Given the description of an element on the screen output the (x, y) to click on. 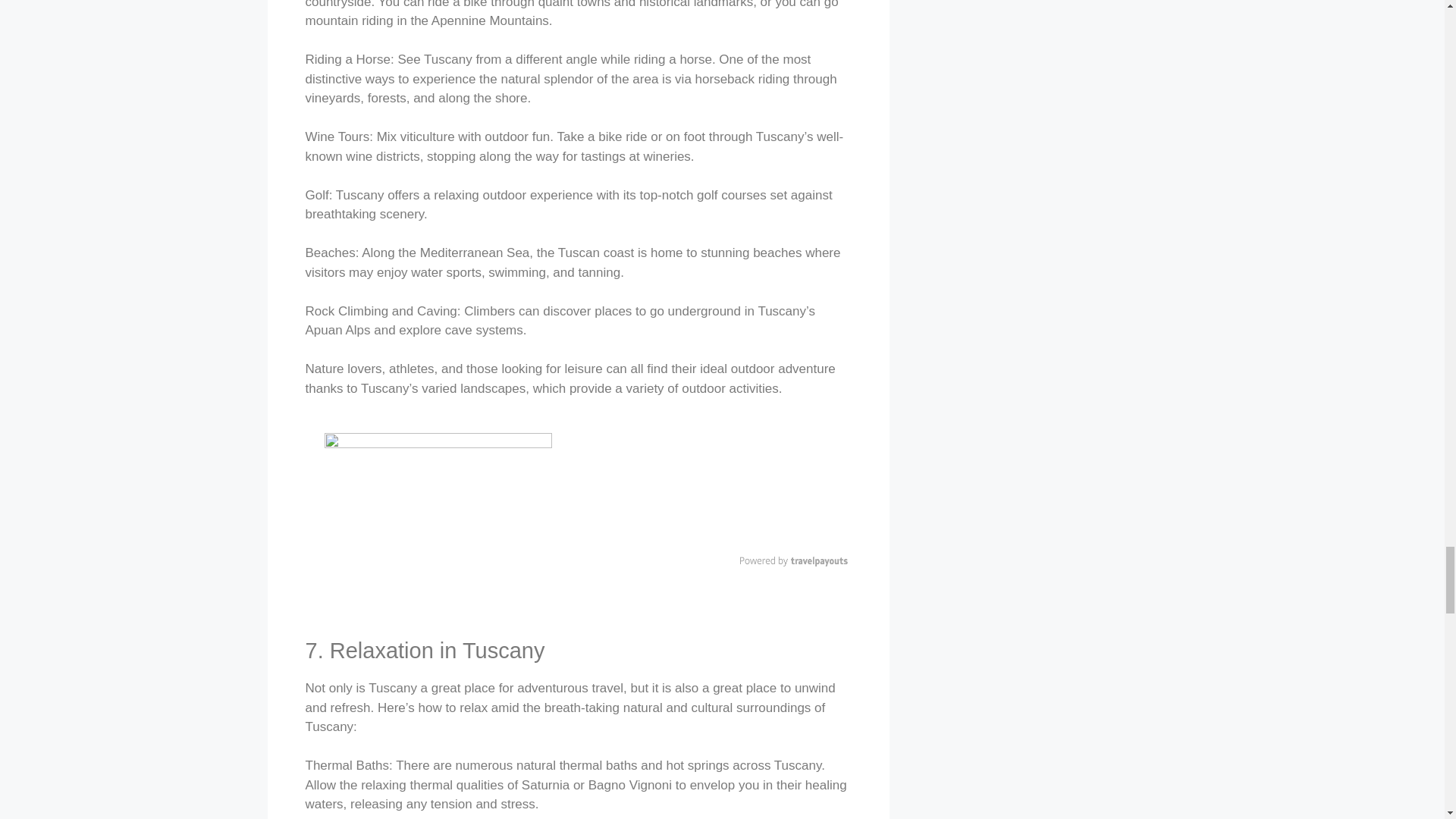
GetYourGuide Widget (717, 489)
